Given the description of an element on the screen output the (x, y) to click on. 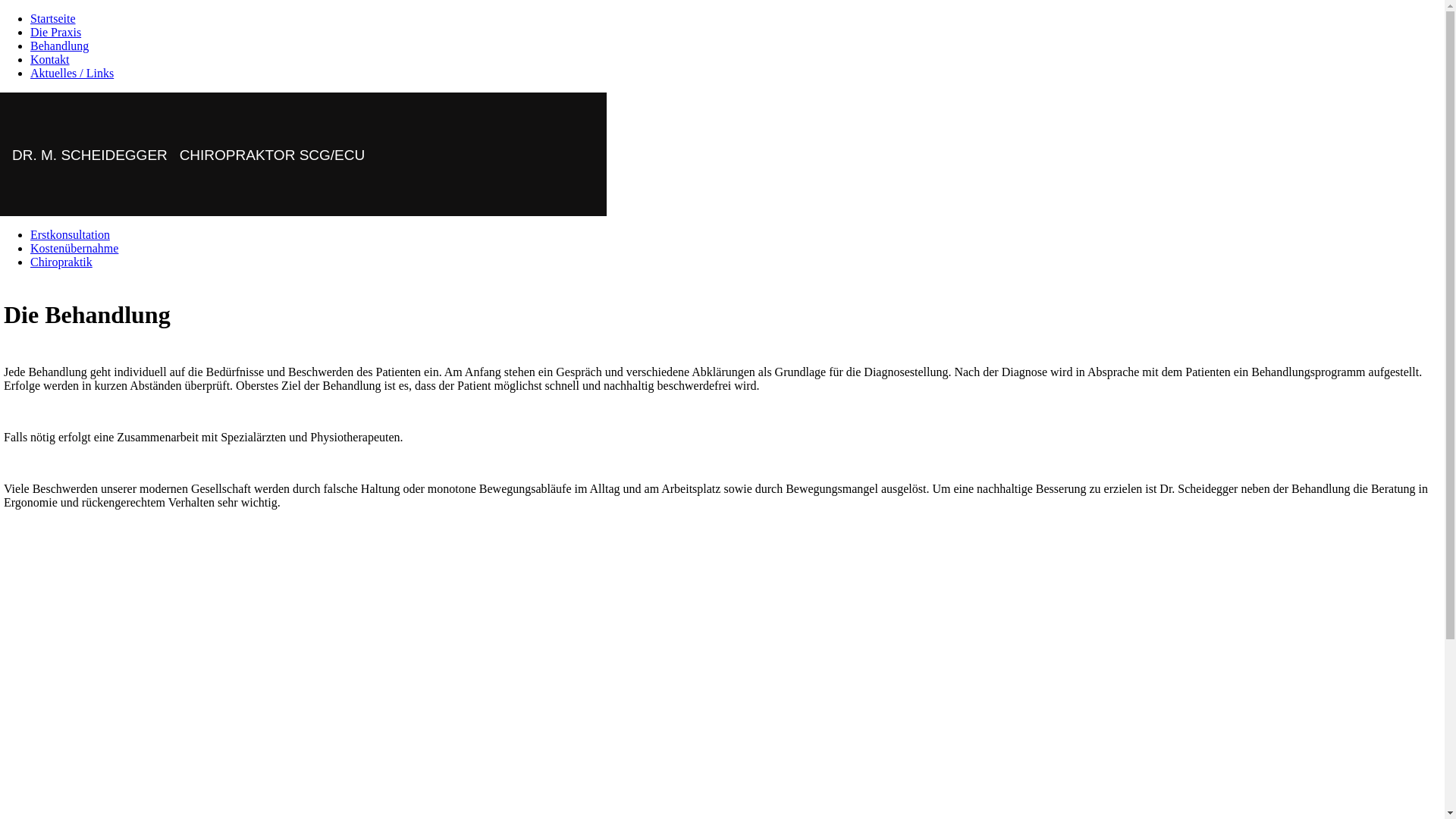
Behandlung Element type: text (59, 45)
Chiropraktik Element type: text (61, 261)
Kontakt Element type: text (49, 59)
Erstkonsultation Element type: text (69, 234)
Die Praxis Element type: text (55, 31)
Aktuelles / Links Element type: text (71, 72)
Startseite Element type: text (52, 18)
